Given the description of an element on the screen output the (x, y) to click on. 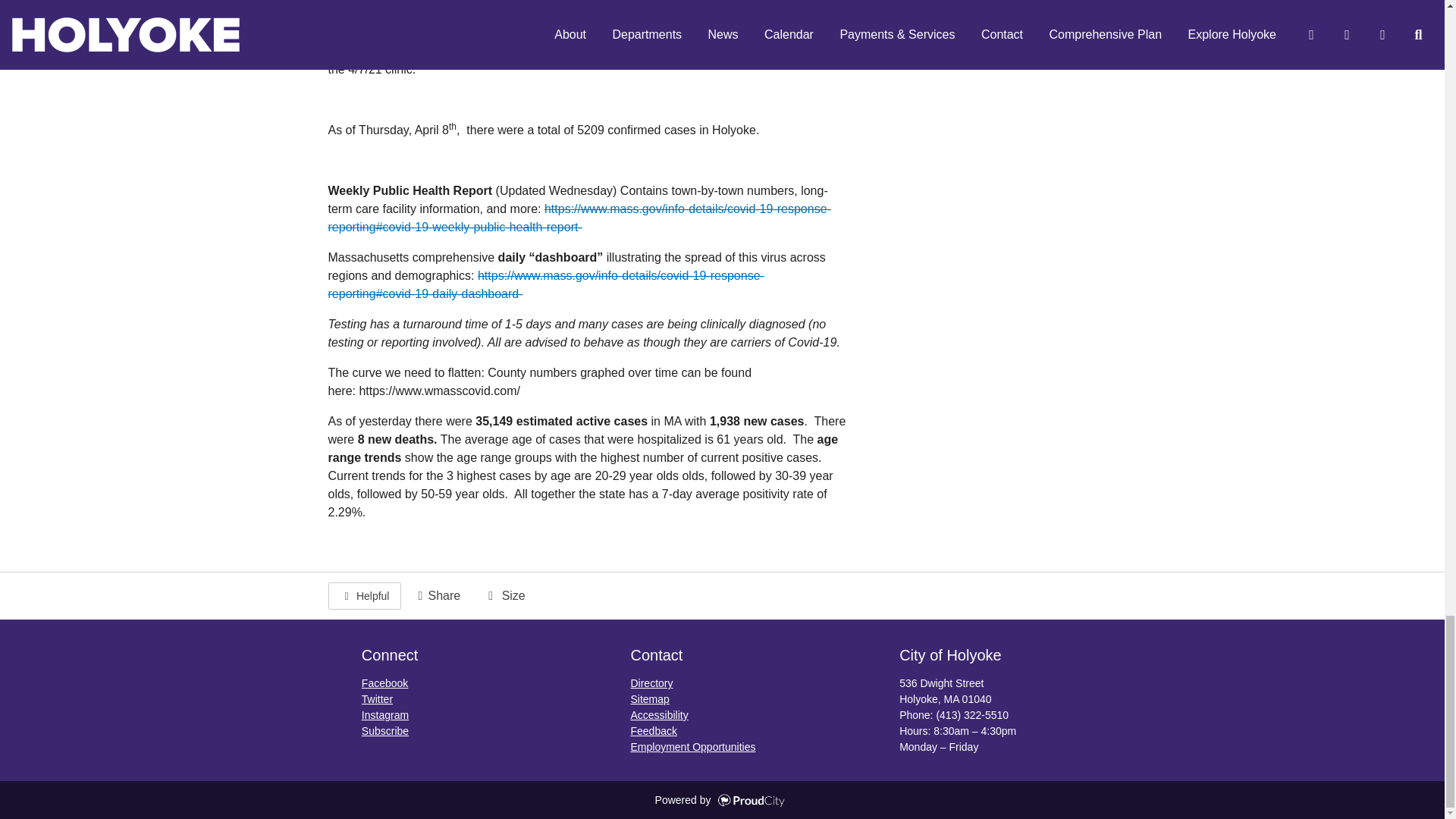
Helpful (364, 595)
This page makes me proud (364, 595)
Share (436, 596)
